Given the description of an element on the screen output the (x, y) to click on. 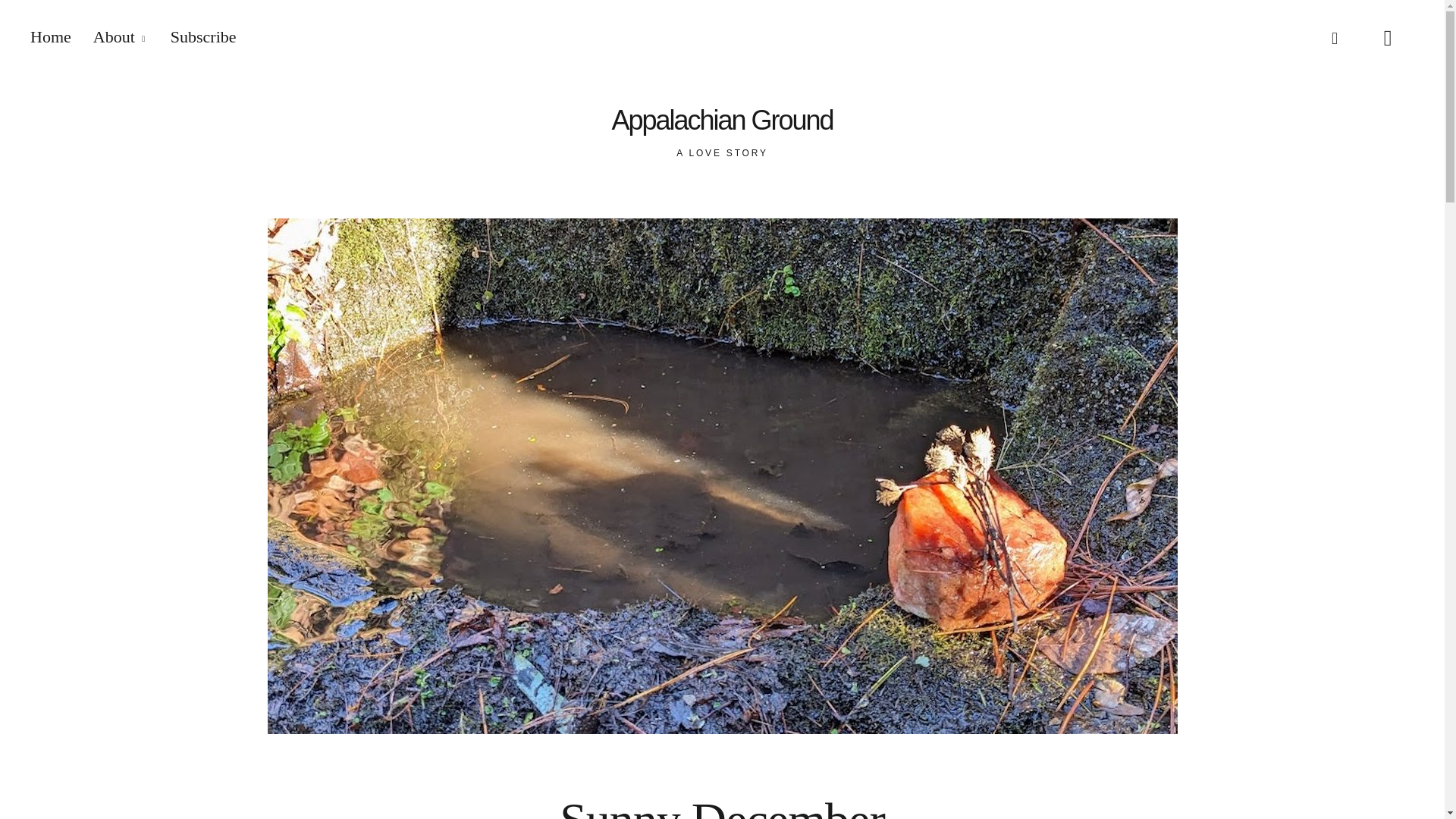
Home (50, 36)
Subscribe (202, 36)
Appalachian Ground (721, 120)
About (120, 36)
Search (458, 15)
